Given the description of an element on the screen output the (x, y) to click on. 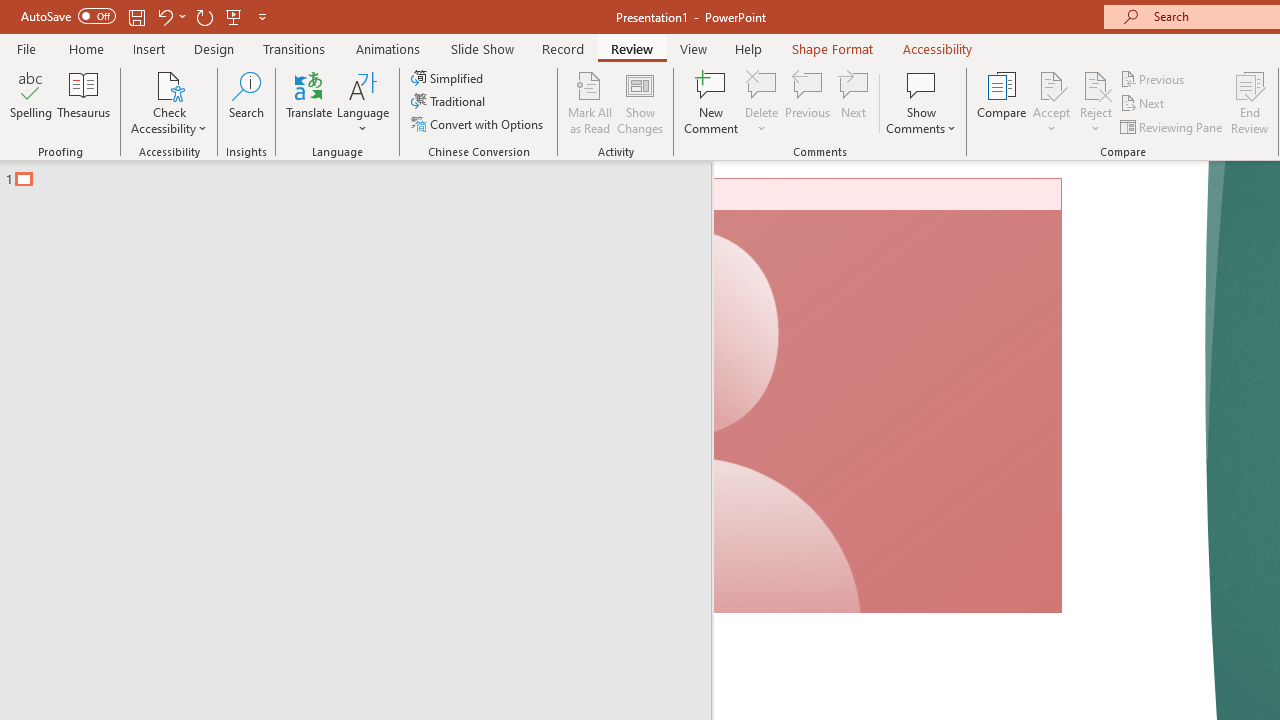
Accept Change (1051, 84)
New Comment (711, 102)
Translate (309, 102)
Convert with Options... (479, 124)
Accept (1051, 102)
